Given the description of an element on the screen output the (x, y) to click on. 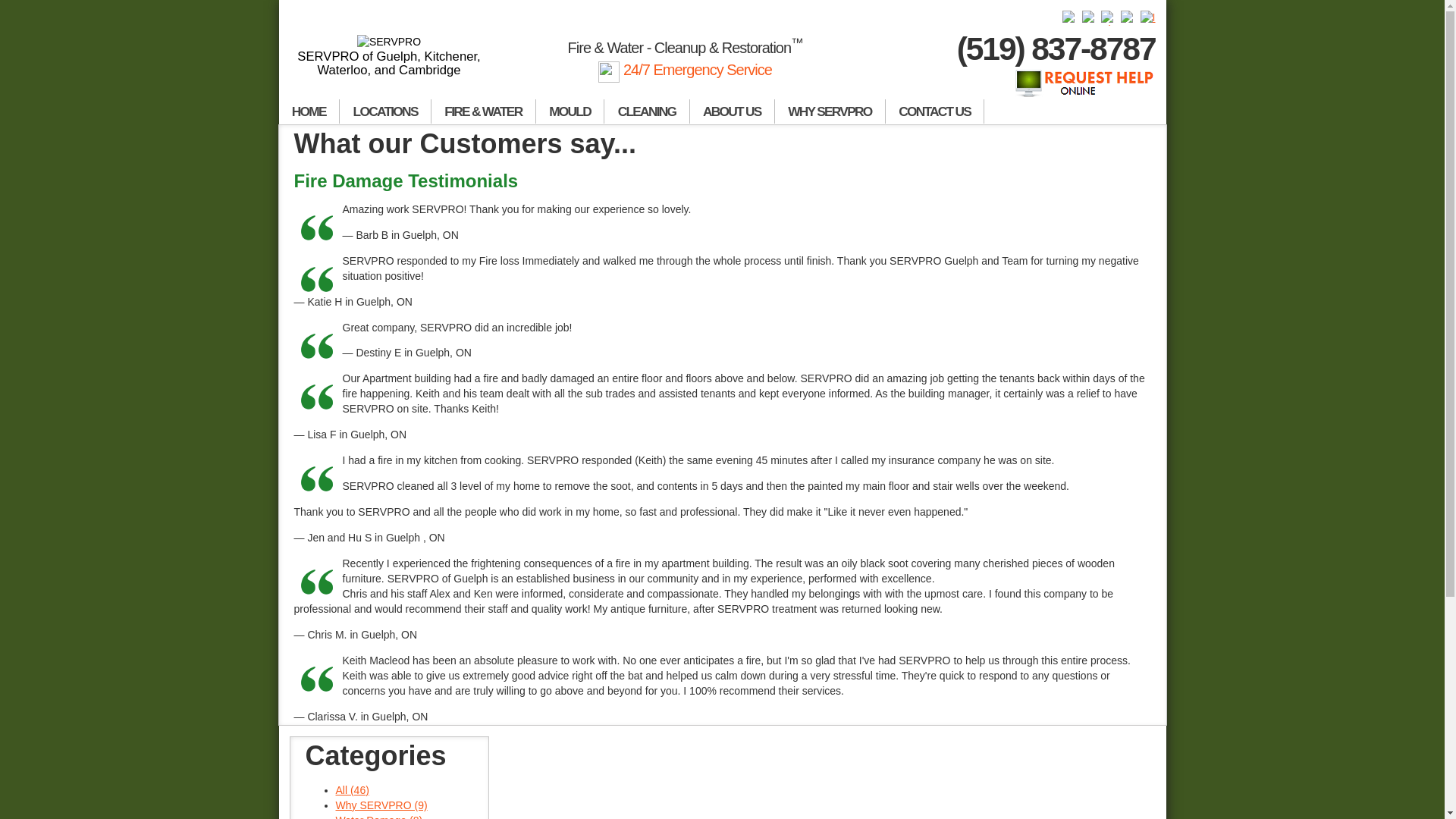
LOCATIONS (384, 111)
CLEANING (646, 111)
SERVPRO of Guelph, Kitchener, Waterloo, and Cambridge (389, 55)
MOULD (570, 111)
HOME (309, 111)
